Given the description of an element on the screen output the (x, y) to click on. 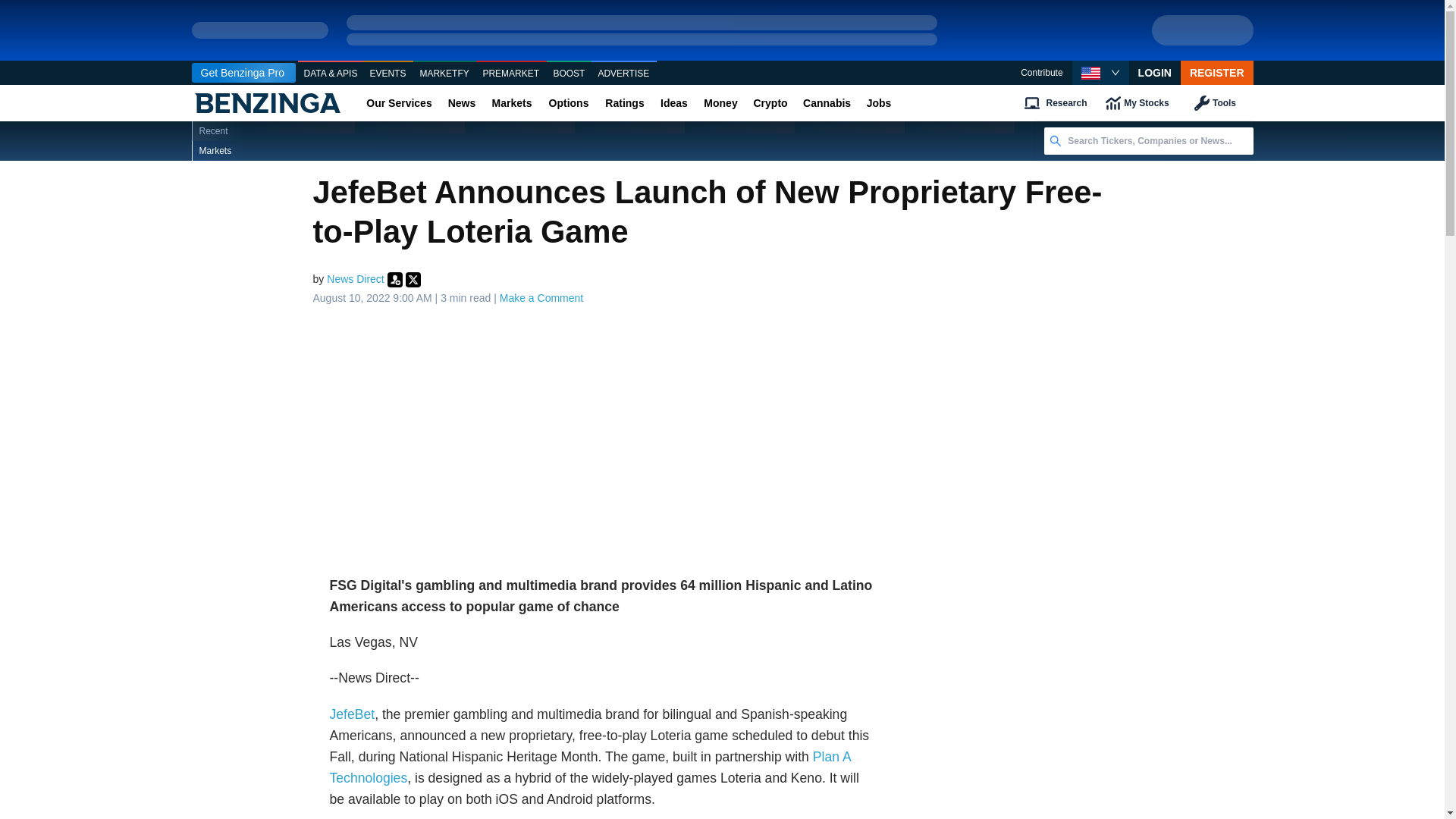
Our Services (398, 103)
Get Benzinga Pro (242, 72)
MARKETFY (444, 73)
ADVERTISE (623, 73)
News (461, 103)
EVENTS (387, 73)
Our Services (398, 103)
BOOST (569, 73)
PREMARKET (511, 73)
USA (1090, 72)
